Given the description of an element on the screen output the (x, y) to click on. 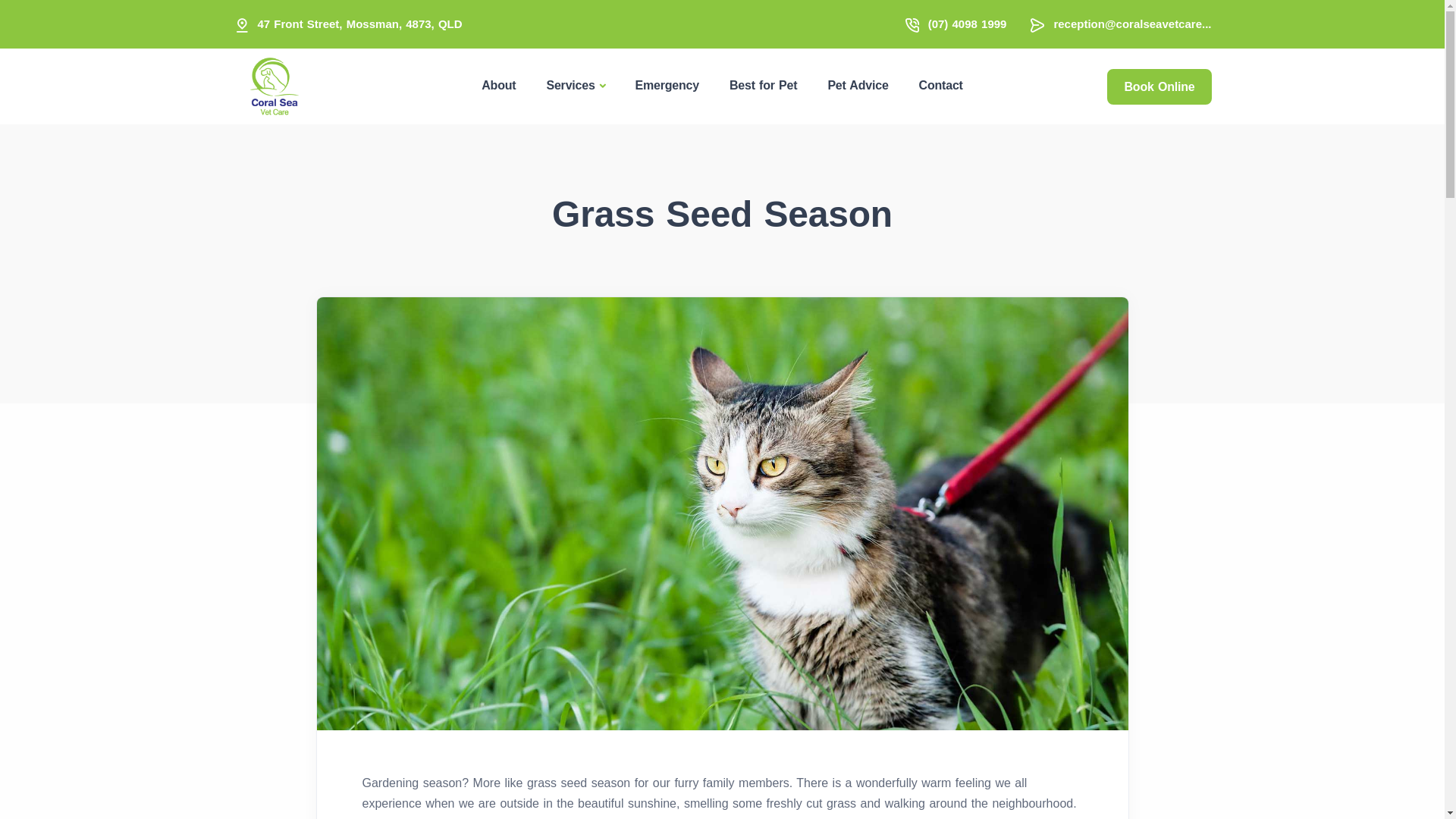
Book Online Element type: text (1159, 86)
47 Front Street, Mossman, 4873, QLD Element type: text (359, 23)
reception@coralseavetcare... Element type: text (1132, 23)
Best for Pet Element type: text (763, 84)
Emergency Element type: text (667, 84)
Services Element type: text (574, 86)
Pet Advice Element type: text (857, 84)
About Element type: text (498, 84)
(07) 4098 1999 Element type: text (967, 23)
Contact Element type: text (940, 84)
